Given the description of an element on the screen output the (x, y) to click on. 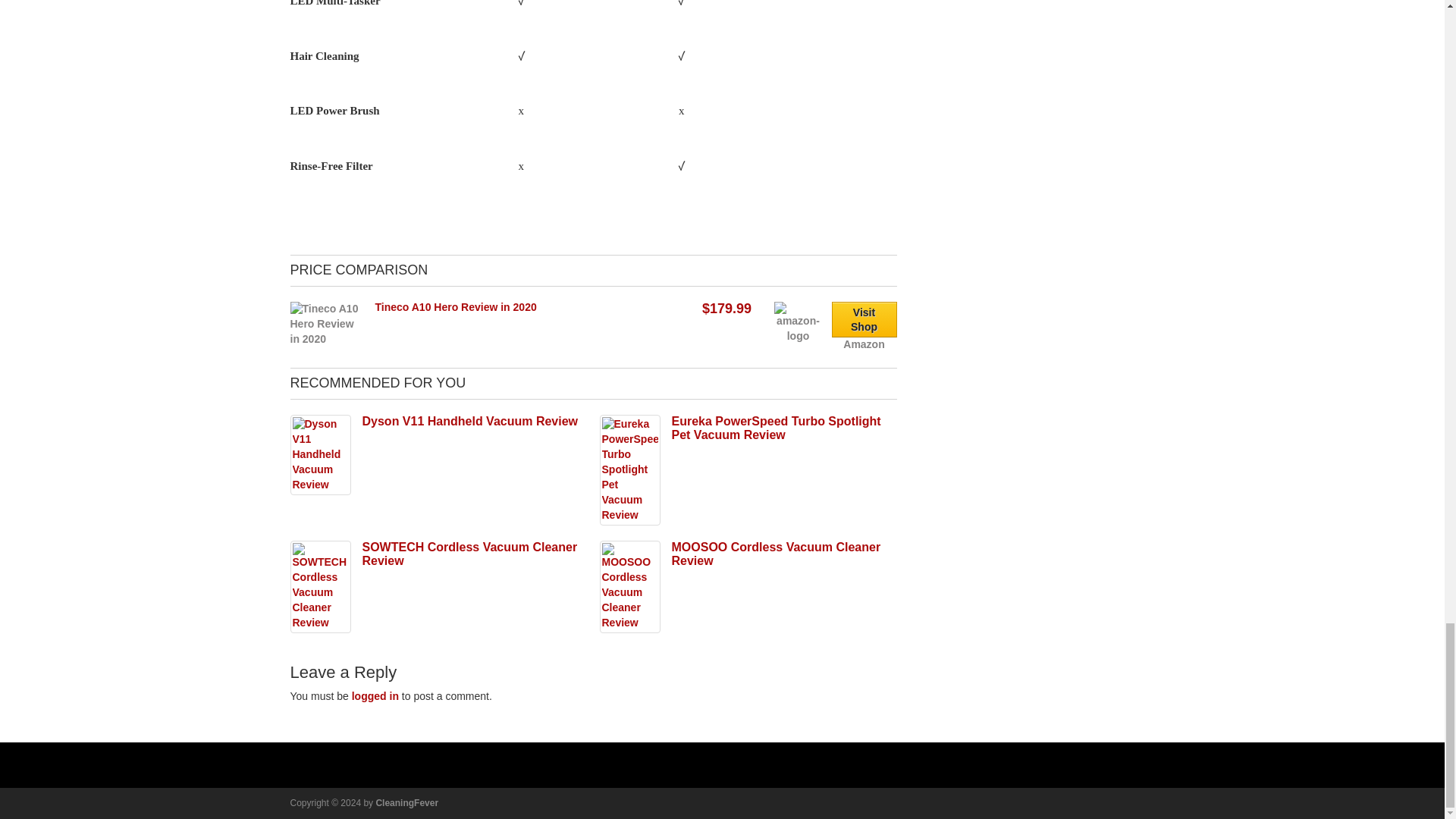
SOWTECH Cordless Vacuum Cleaner Review (470, 553)
4.3 out of 5 stars (701, 449)
Eureka PowerSpeed Turbo Spotlight Pet Vacuum Review (775, 427)
3.7 out of 5 stars (392, 575)
4.6 out of 5 stars (392, 436)
Dyson V11 Handheld Vacuum Review (470, 420)
